Given the description of an element on the screen output the (x, y) to click on. 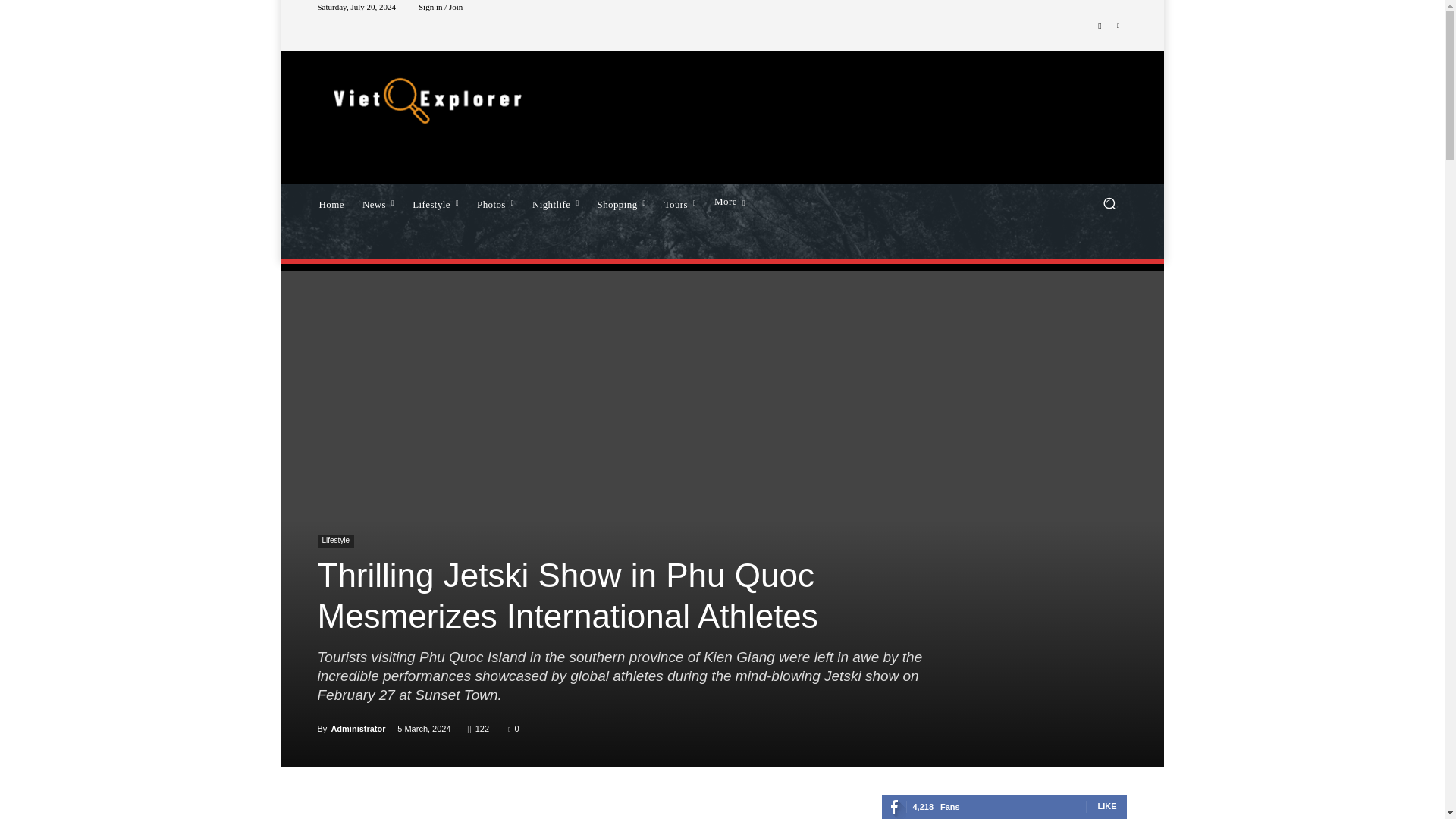
Twitter (1117, 25)
News (378, 202)
Home (330, 202)
Lifestyle (435, 202)
Facebook (1099, 25)
